Given the description of an element on the screen output the (x, y) to click on. 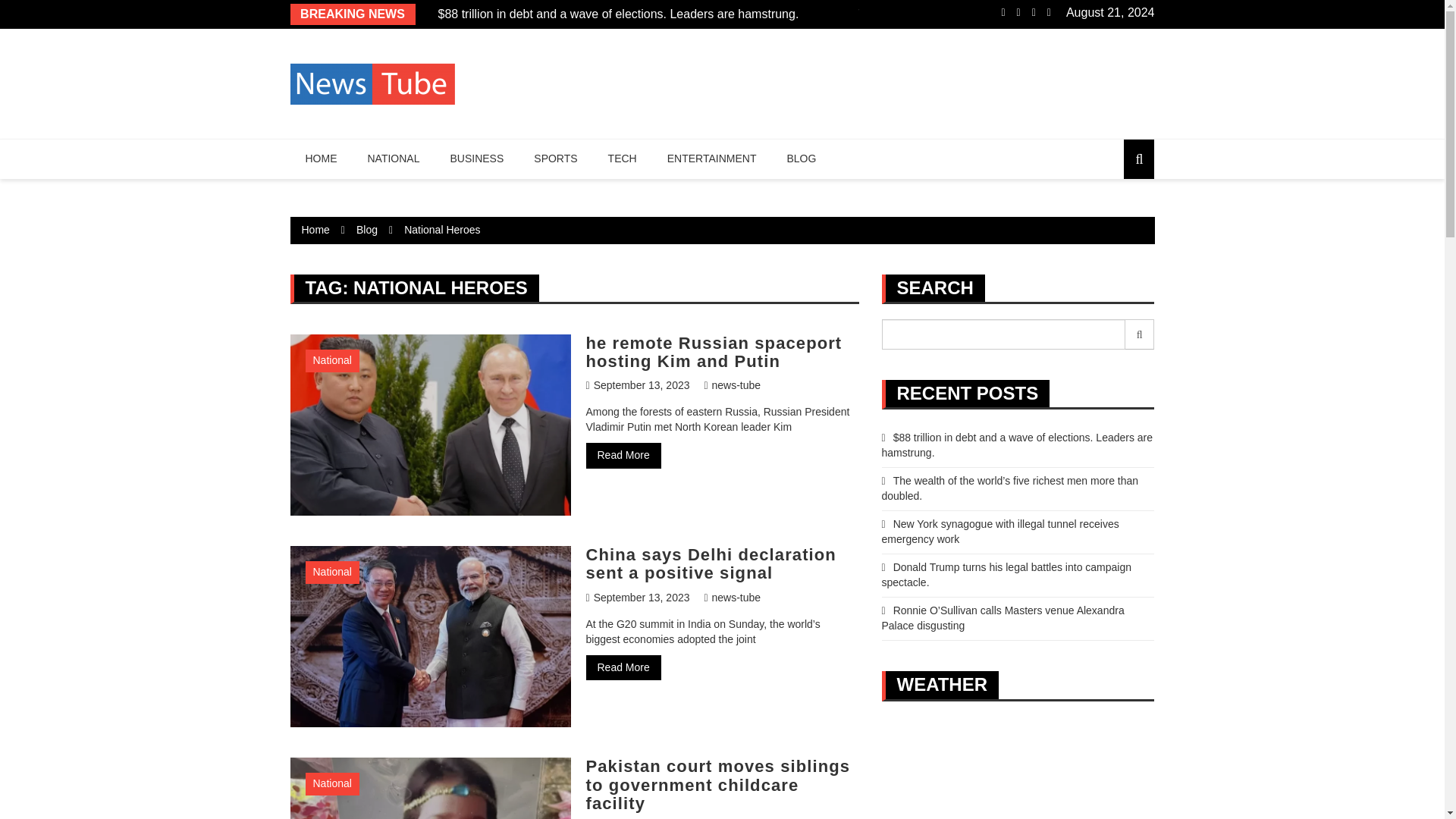
NATIONAL (392, 159)
Home (315, 229)
he remote Russian spaceport hosting Kim and Putin (713, 352)
news-tube (731, 385)
ENTERTAINMENT (711, 159)
TECH (622, 159)
BLOG (801, 159)
National Heroes (442, 229)
SPORTS (555, 159)
